Given the description of an element on the screen output the (x, y) to click on. 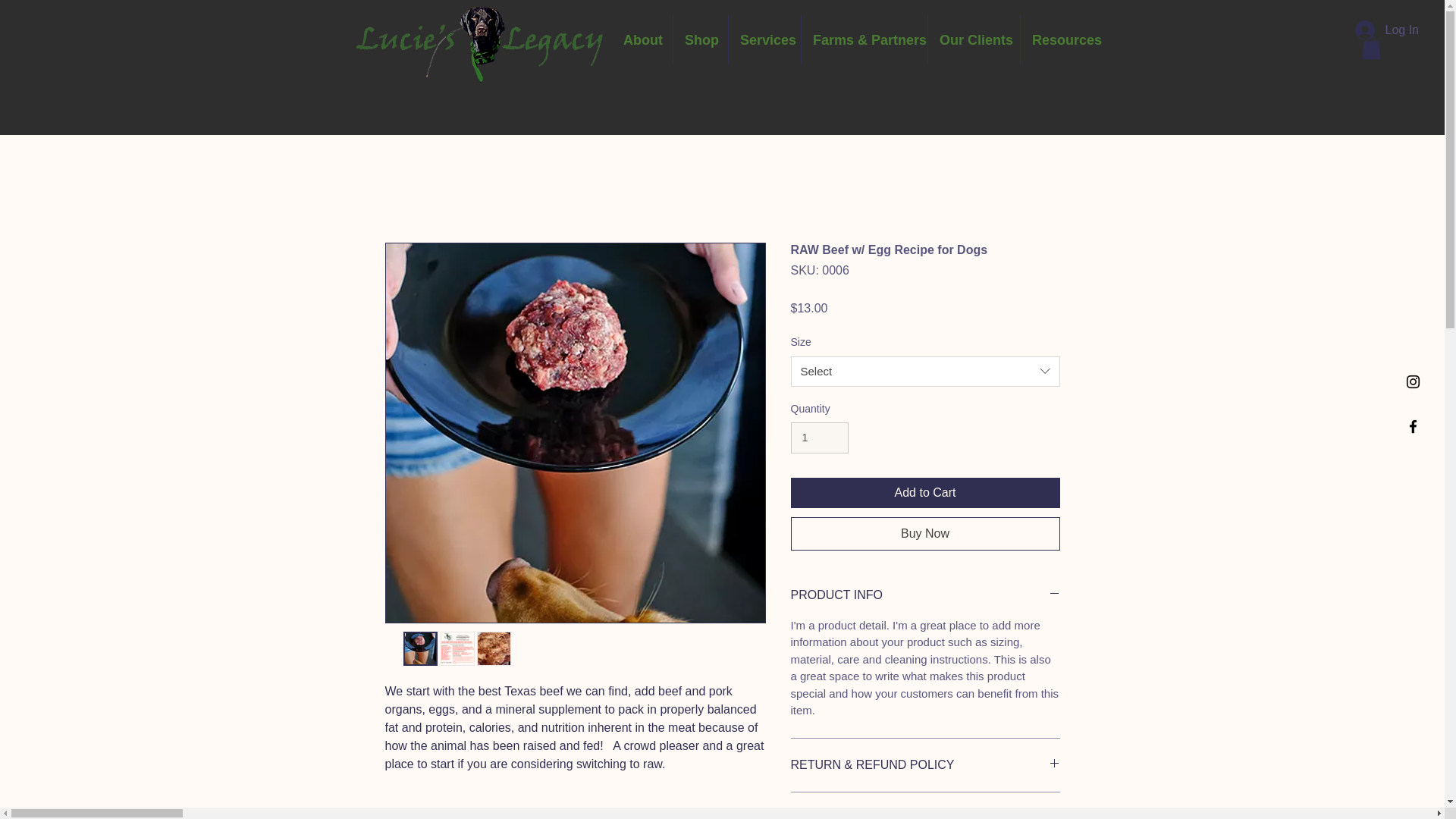
Our Clients (974, 40)
Shop (700, 40)
About (641, 40)
SHIPPING INFO (924, 814)
Resources (1063, 40)
Add to Cart (924, 492)
Buy Now (924, 533)
Log In (1386, 30)
PRODUCT INFO (924, 595)
Services (764, 40)
1 (818, 437)
Select (924, 371)
